Given the description of an element on the screen output the (x, y) to click on. 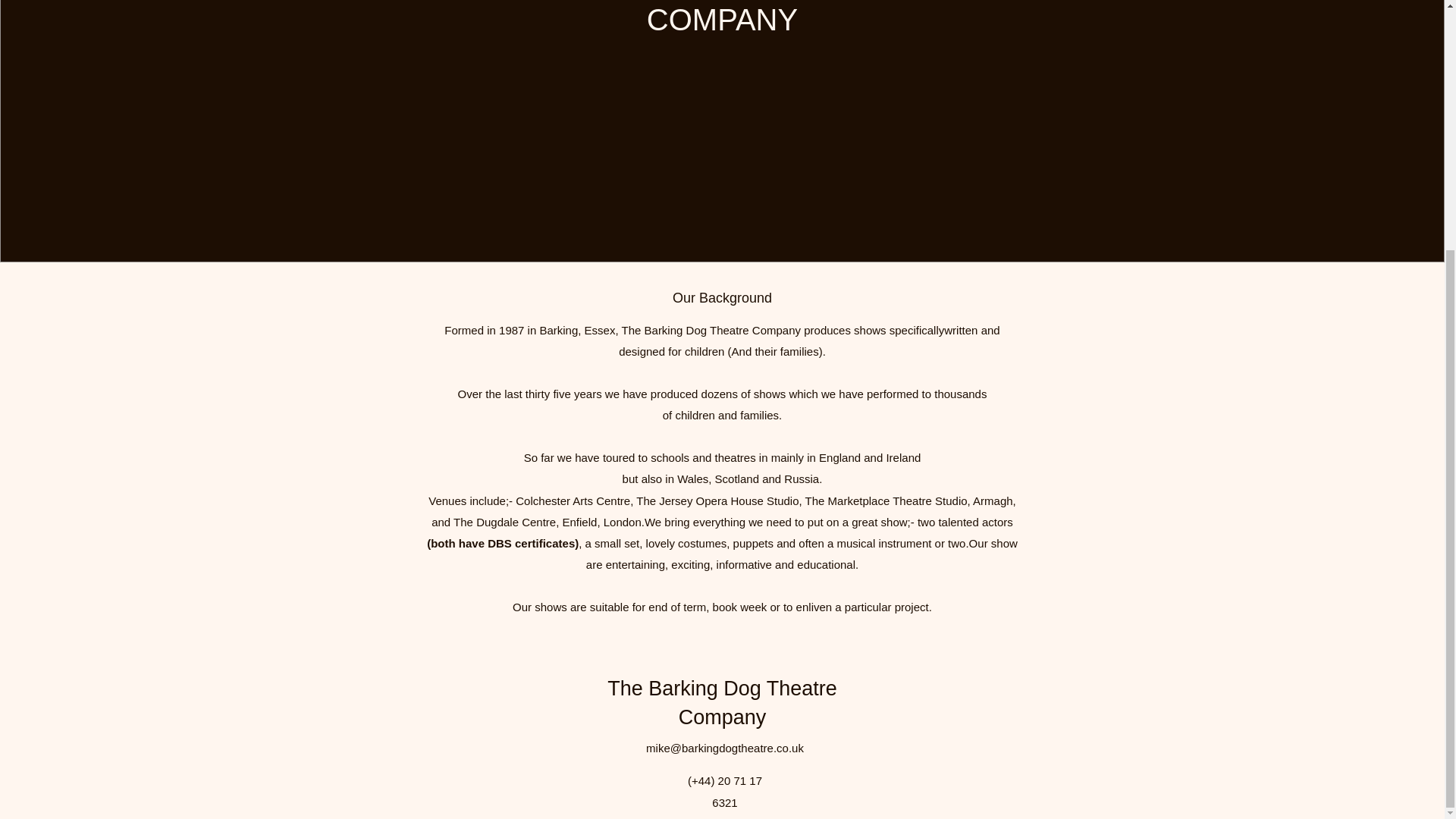
The Barking Dog Theatre Company (722, 702)
